Given the description of an element on the screen output the (x, y) to click on. 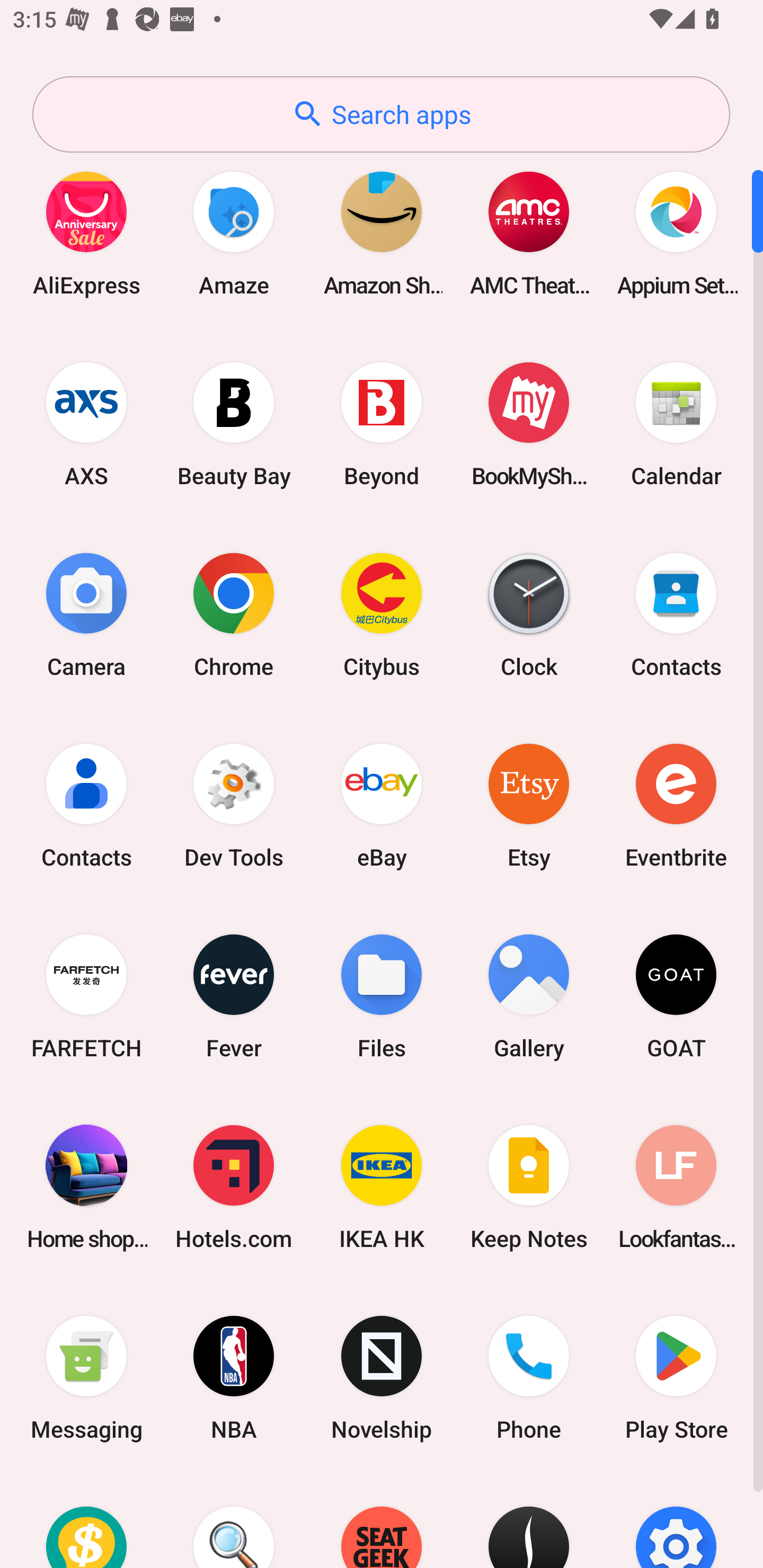
  Search apps (381, 114)
AliExpress (86, 233)
Amaze (233, 233)
Amazon Shopping (381, 233)
AMC Theatres (528, 233)
Appium Settings (676, 233)
AXS (86, 424)
Beauty Bay (233, 424)
Beyond (381, 424)
BookMyShow (528, 424)
Calendar (676, 424)
Camera (86, 614)
Chrome (233, 614)
Citybus (381, 614)
Clock (528, 614)
Contacts (676, 614)
Contacts (86, 805)
Dev Tools (233, 805)
eBay (381, 805)
Etsy (528, 805)
Eventbrite (676, 805)
FARFETCH (86, 996)
Fever (233, 996)
Files (381, 996)
Gallery (528, 996)
GOAT (676, 996)
Home shopping (86, 1186)
Hotels.com (233, 1186)
IKEA HK (381, 1186)
Keep Notes (528, 1186)
Lookfantastic (676, 1186)
Messaging (86, 1377)
NBA (233, 1377)
Novelship (381, 1377)
Phone (528, 1377)
Play Store (676, 1377)
